Given the description of an element on the screen output the (x, y) to click on. 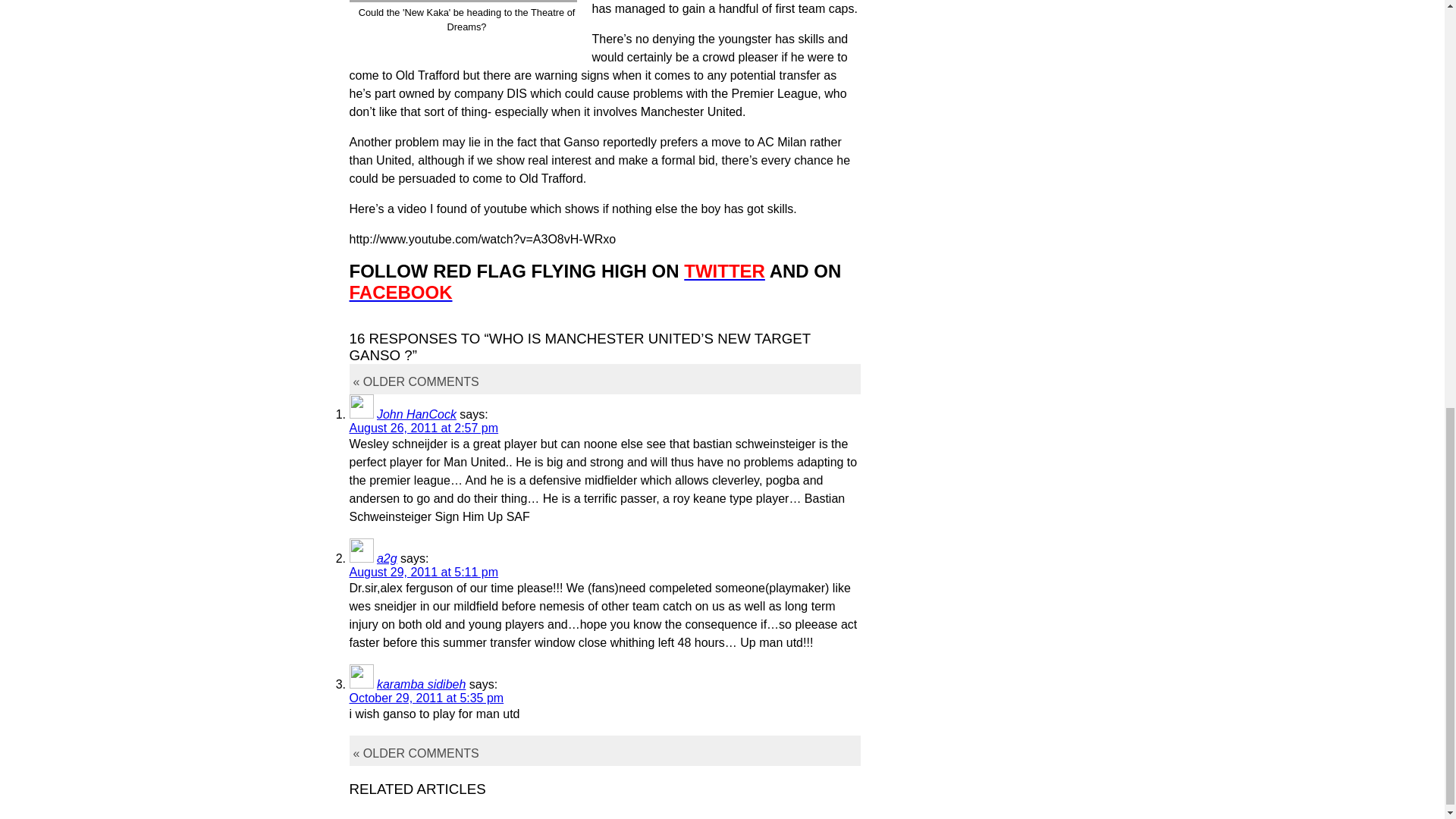
TWITTER (724, 271)
FACEBOOK (400, 291)
a2g (387, 558)
karamba sidibeh (421, 684)
October 29, 2011 at 5:35 pm (426, 697)
August 26, 2011 at 2:57 pm (423, 427)
John HanCock (417, 413)
August 29, 2011 at 5:11 pm (423, 571)
